Given the description of an element on the screen output the (x, y) to click on. 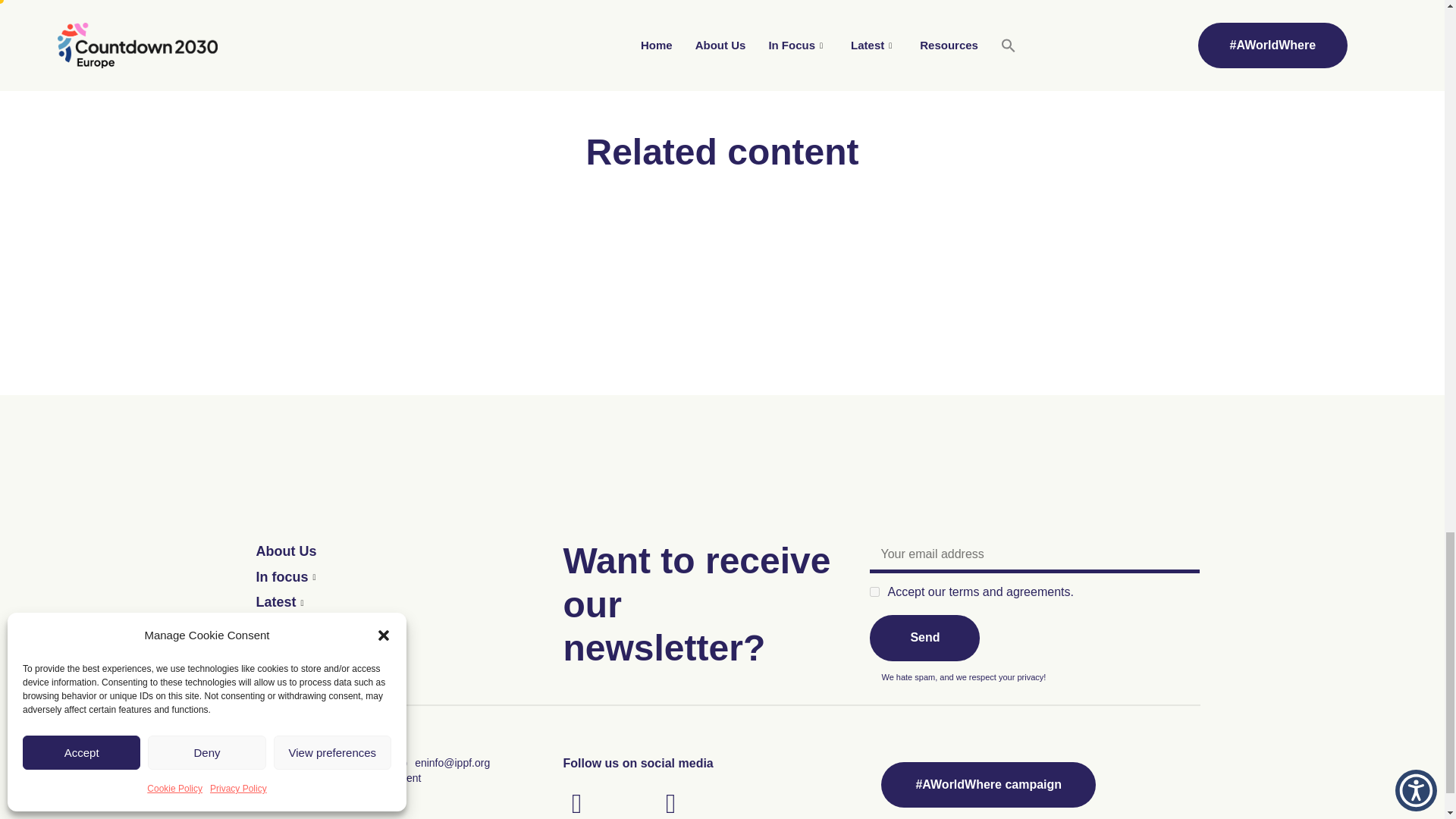
on (874, 592)
